Given the description of an element on the screen output the (x, y) to click on. 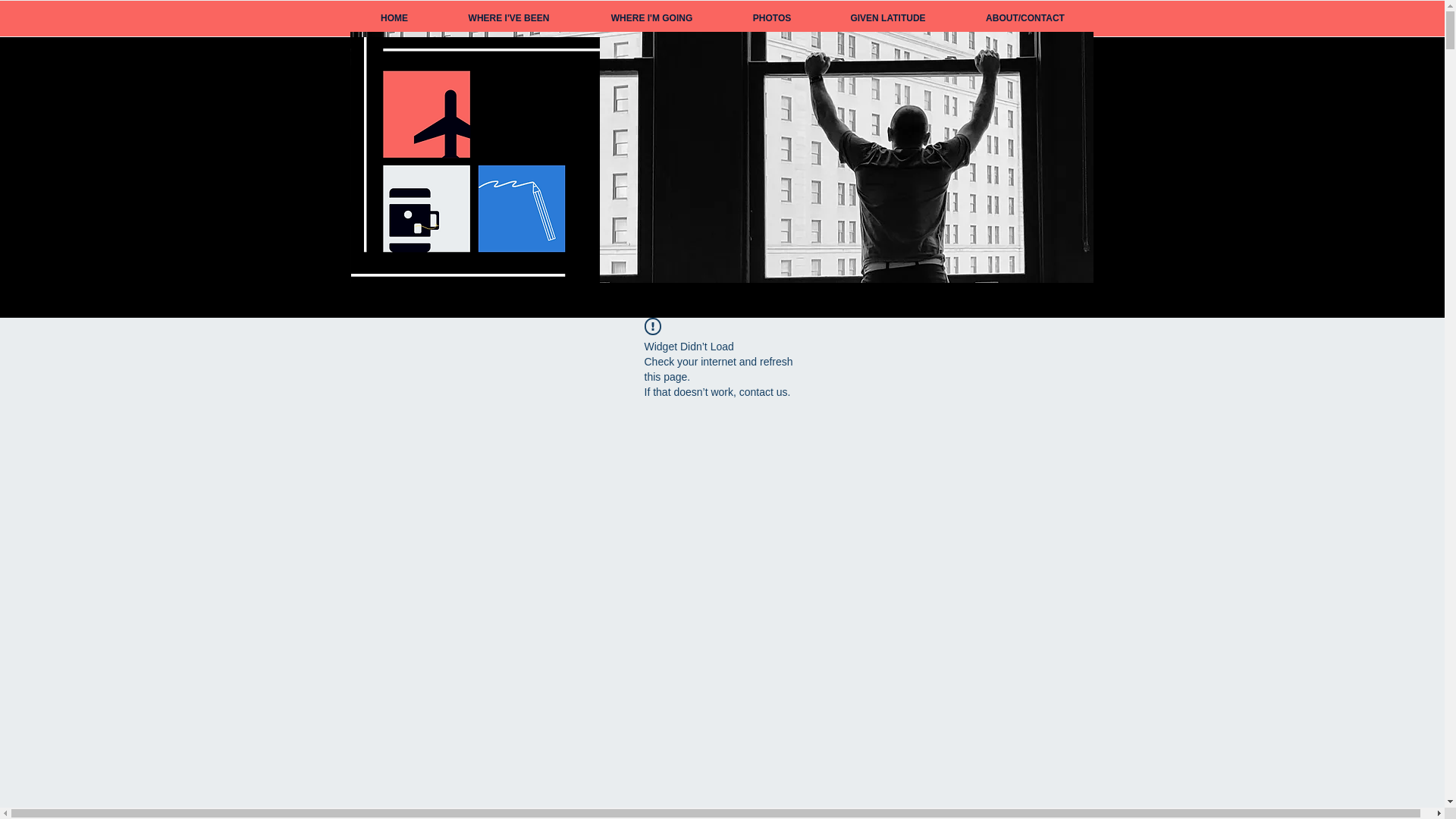
! (653, 325)
WHERE I'VE BEEN (507, 18)
PHOTOS (772, 18)
WHERE I'M GOING (650, 18)
GIVEN LATITUDE (888, 18)
HOME (395, 18)
